Given the description of an element on the screen output the (x, y) to click on. 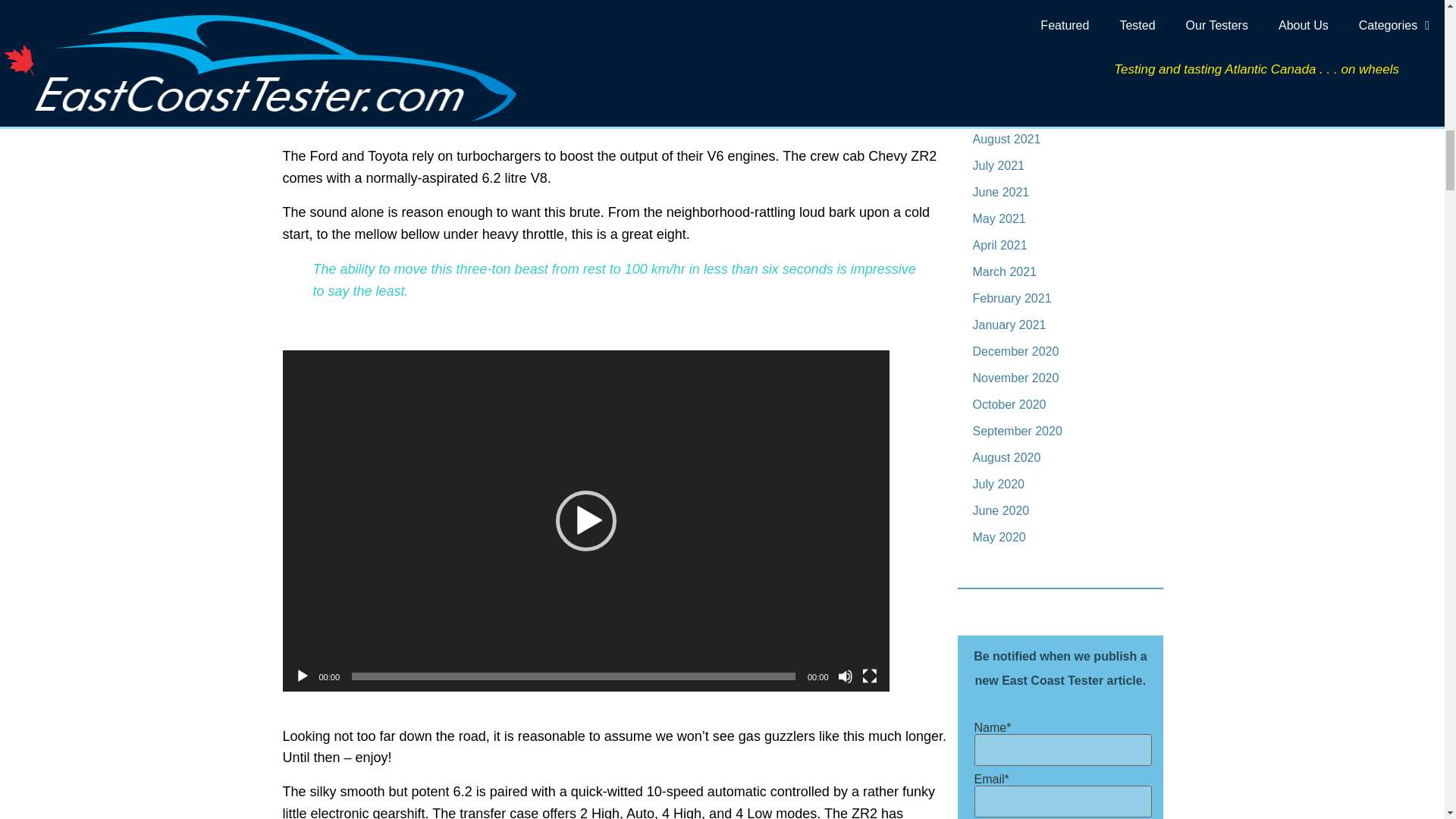
Fullscreen (868, 676)
Play (301, 676)
Mute (844, 676)
